Given the description of an element on the screen output the (x, y) to click on. 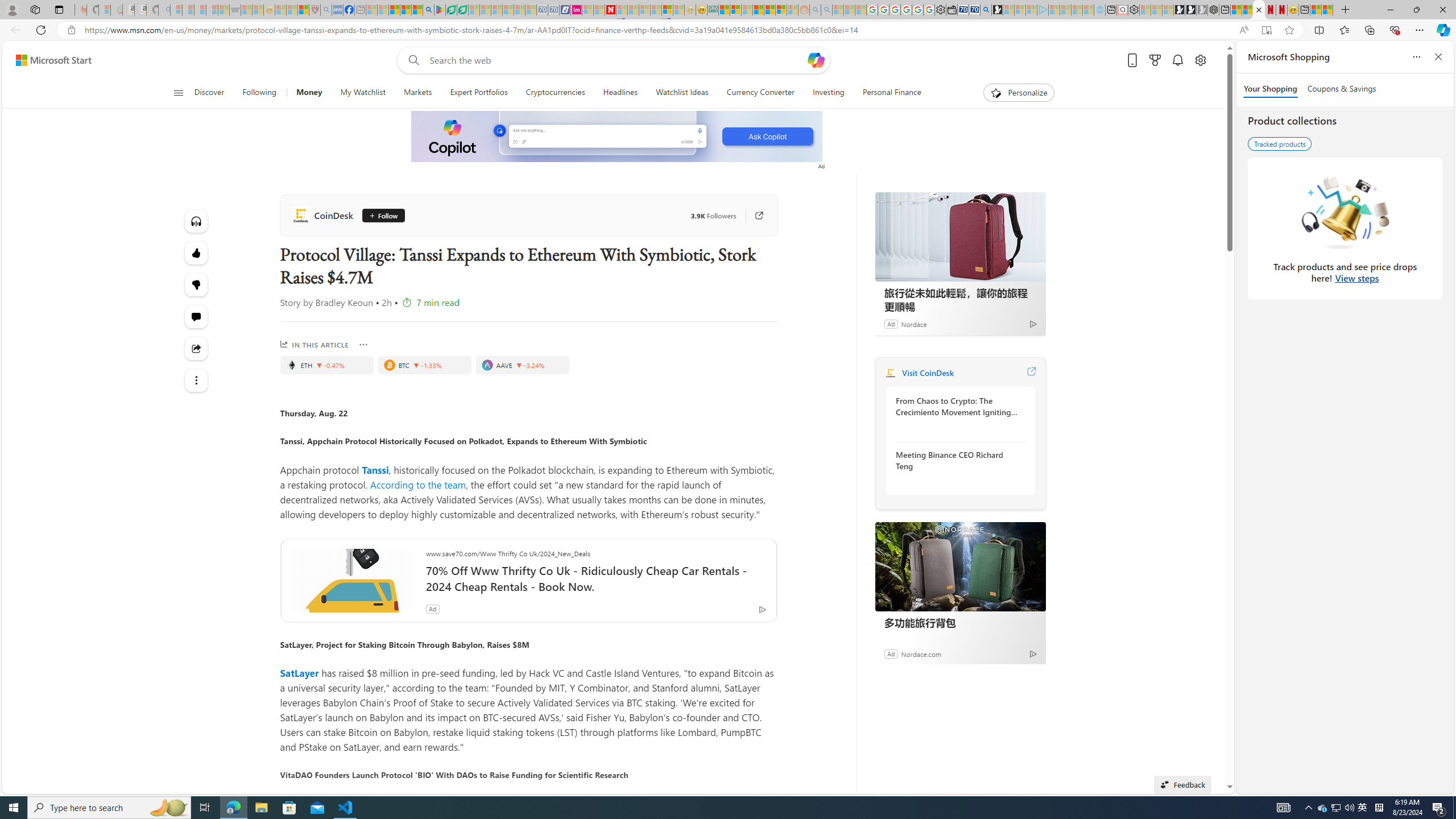
Latest Politics News & Archive | Newsweek.com (610, 9)
